Given the description of an element on the screen output the (x, y) to click on. 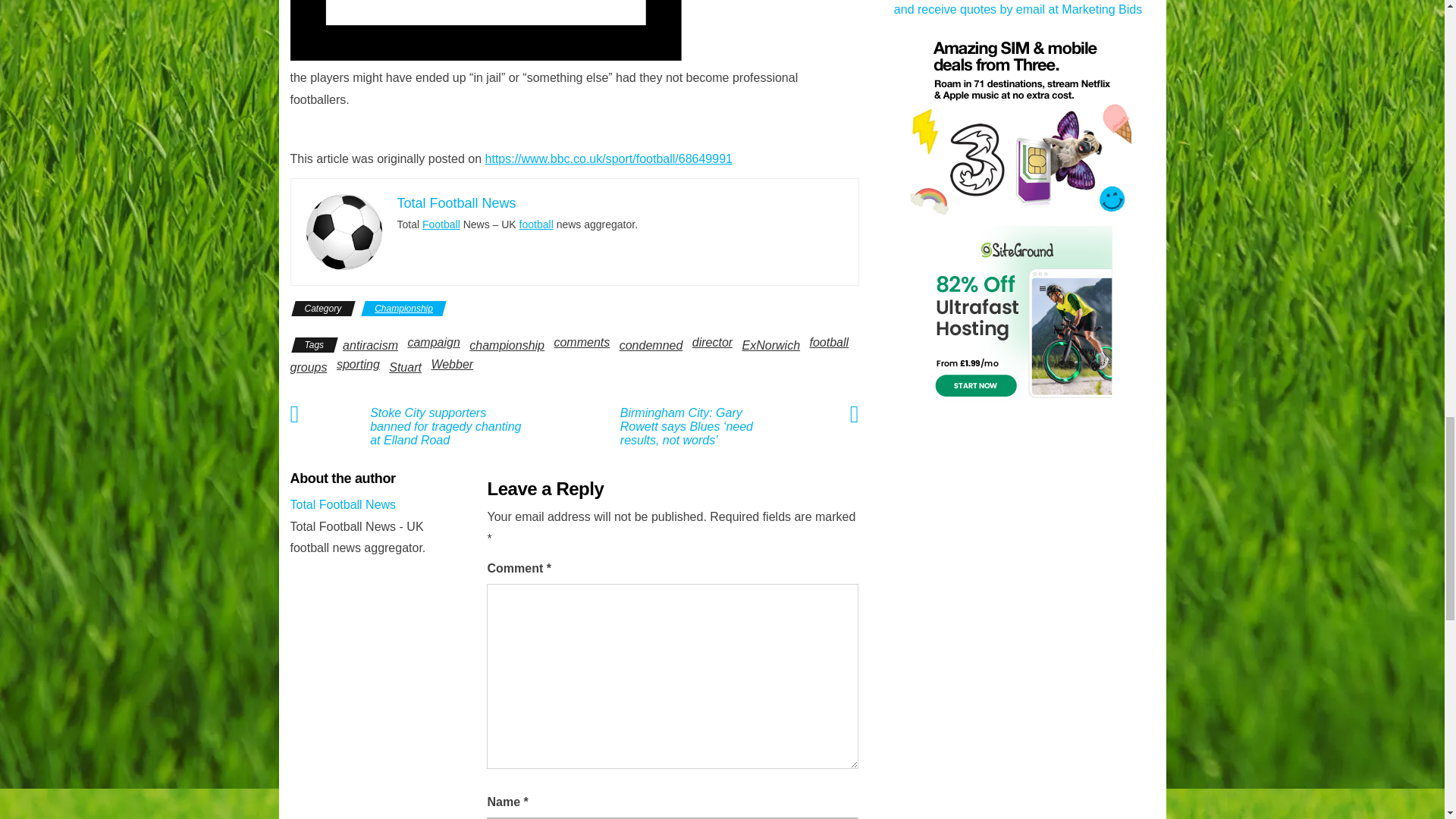
Stuart (405, 367)
comments (581, 341)
Pink Unexternal-link (574, 31)
Total Football News (456, 202)
antiracism (369, 345)
Total Football News (342, 504)
Webber (451, 364)
Championship (403, 308)
sporting (358, 364)
football (828, 341)
